Given the description of an element on the screen output the (x, y) to click on. 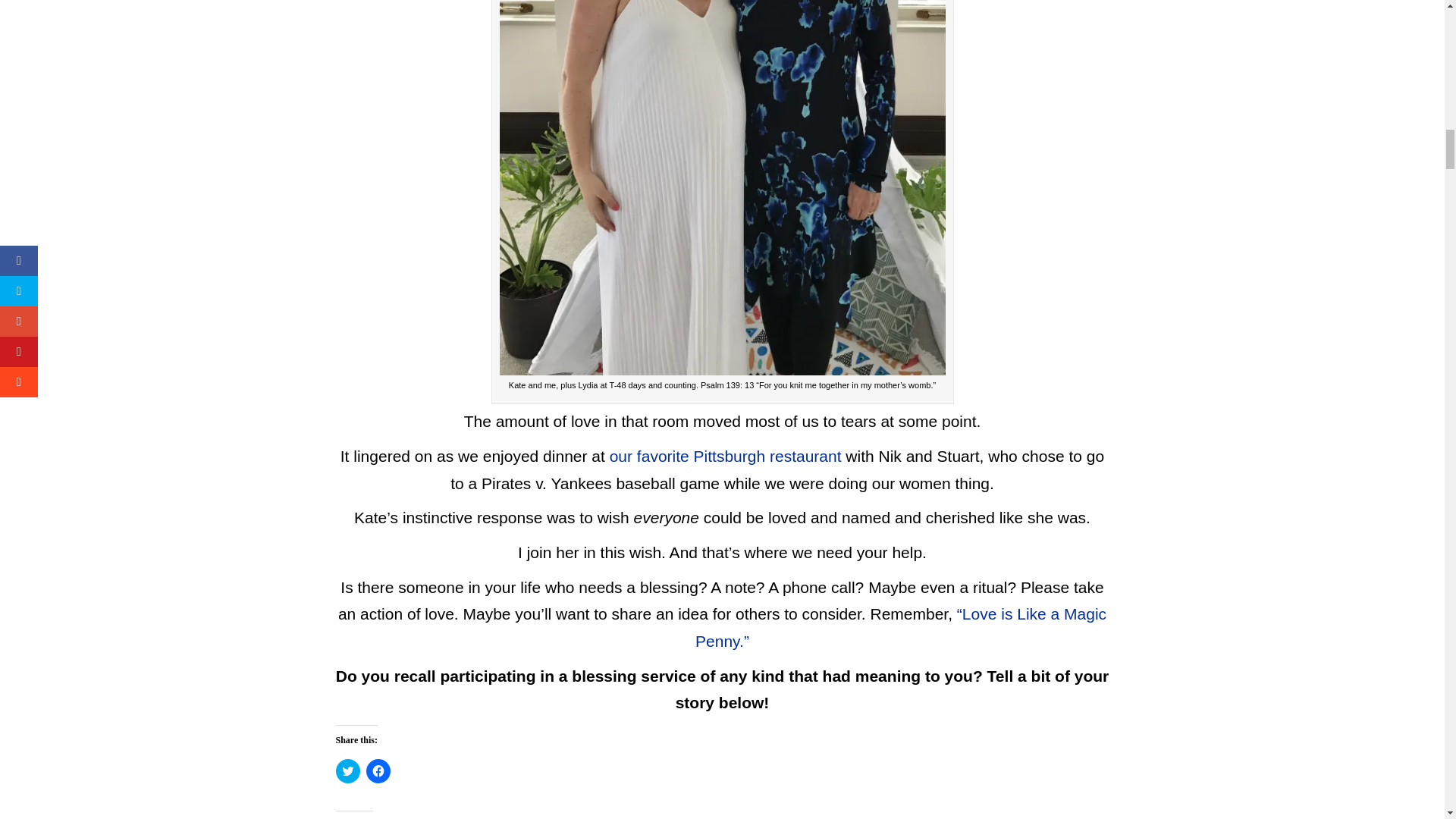
Click to share on Twitter (346, 770)
Click to share on Facebook (377, 770)
our favorite Pittsburgh restaurant (725, 456)
